Given the description of an element on the screen output the (x, y) to click on. 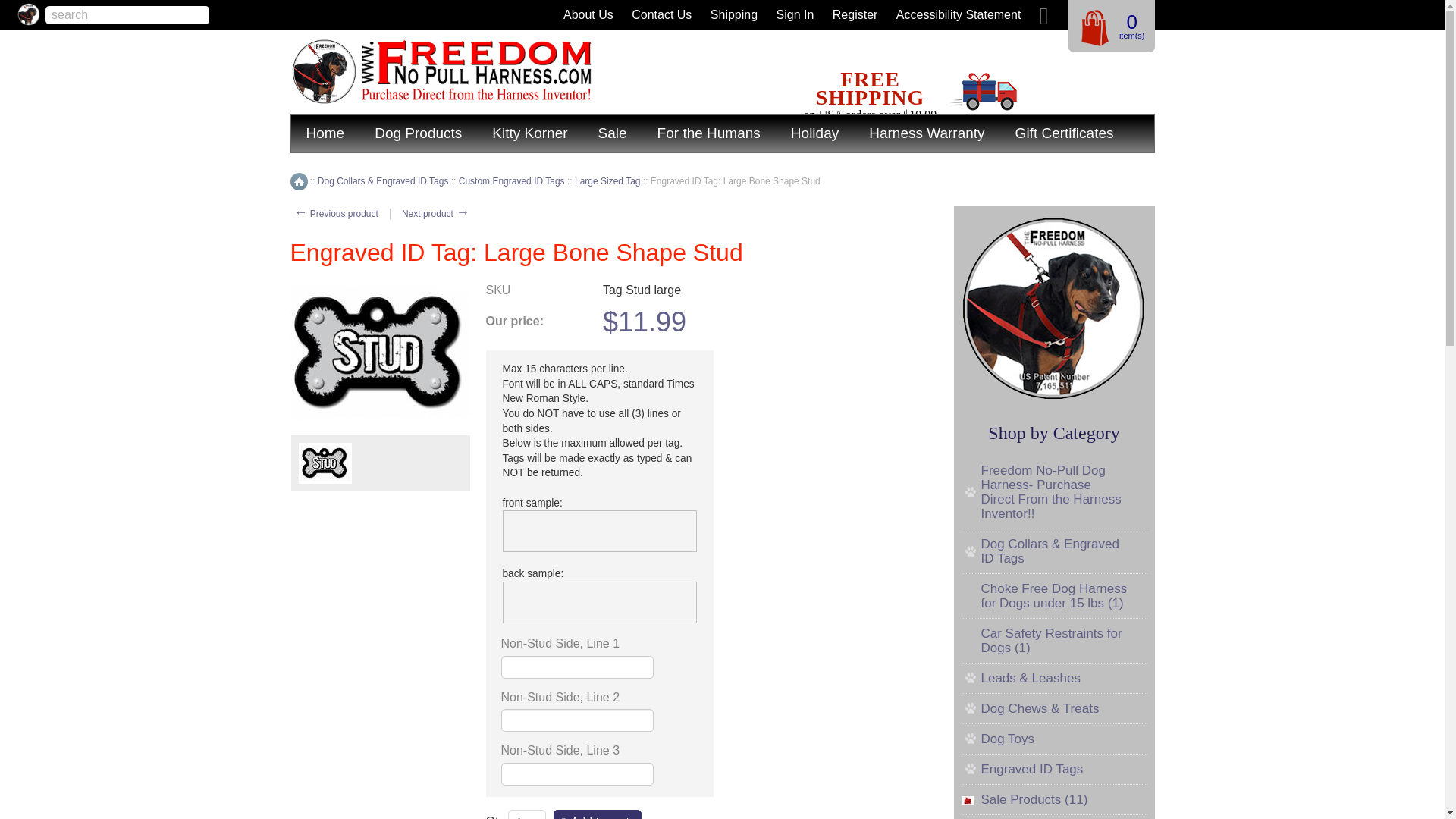
add lines below (598, 602)
Add to cart (597, 814)
add lines below (598, 531)
Home (298, 181)
Add to cart (597, 814)
For the Humans (709, 133)
Gift Certificates (1064, 133)
Kitty Korner (529, 133)
Sale (612, 133)
Harness Warranty (925, 133)
Dog Products (418, 133)
Custom Engraved ID Tags (511, 181)
Engraved ID Tag:  Large Bone Shape Stud (379, 352)
Home (325, 133)
Holiday (814, 133)
